Given the description of an element on the screen output the (x, y) to click on. 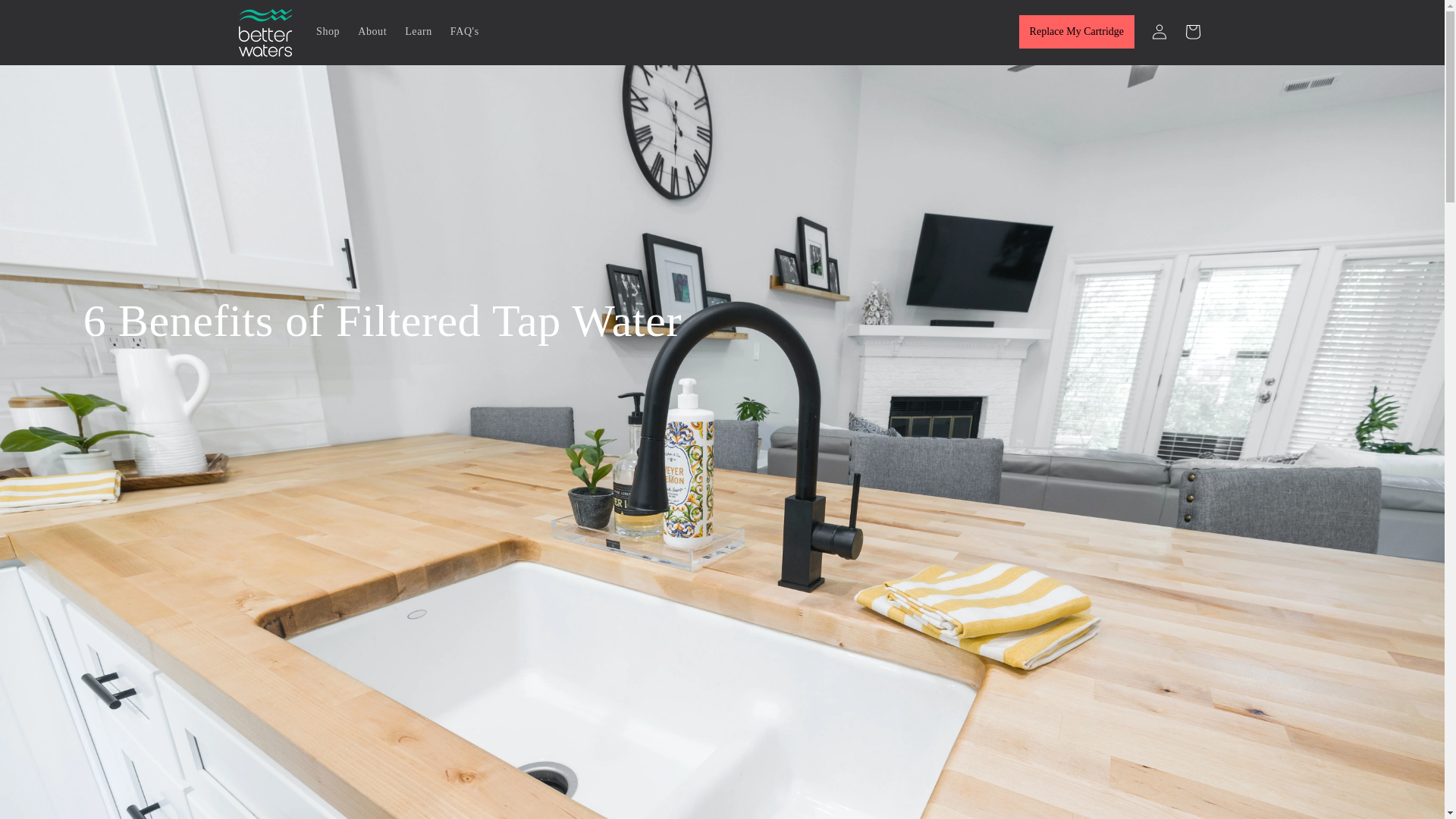
Replace My Cartridge (1076, 31)
Learn (418, 31)
Log in (1157, 31)
Skip to content (45, 17)
About (372, 31)
Cart (1191, 31)
Shop (328, 31)
FAQ's (464, 31)
